Given the description of an element on the screen output the (x, y) to click on. 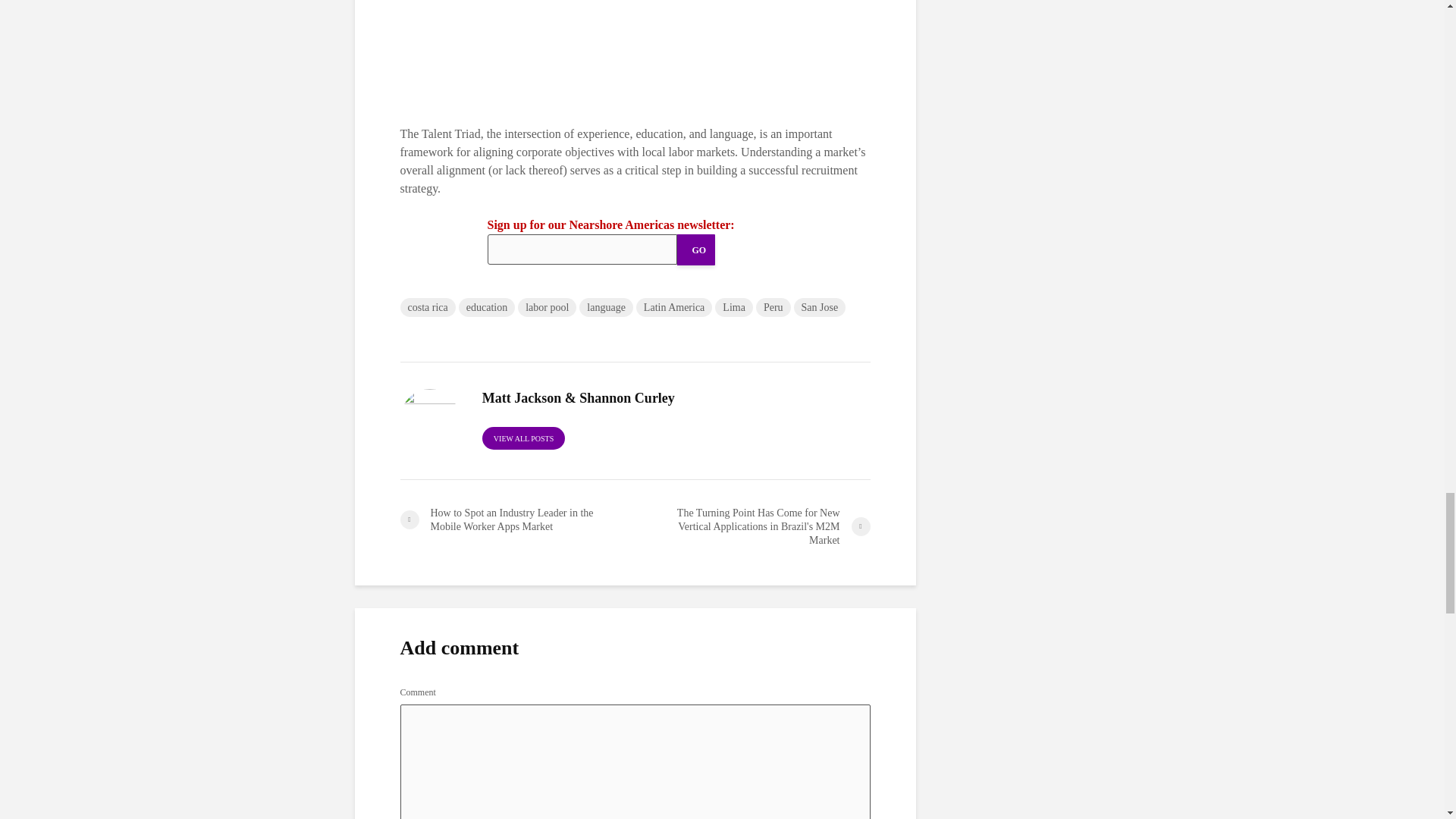
Lima (733, 307)
VIEW ALL POSTS (522, 437)
Latin America (673, 307)
Peru (772, 307)
San Jose (819, 307)
labor pool (547, 307)
education (486, 307)
costa rica (427, 307)
language (606, 307)
Go (695, 249)
Go (695, 249)
